Given the description of an element on the screen output the (x, y) to click on. 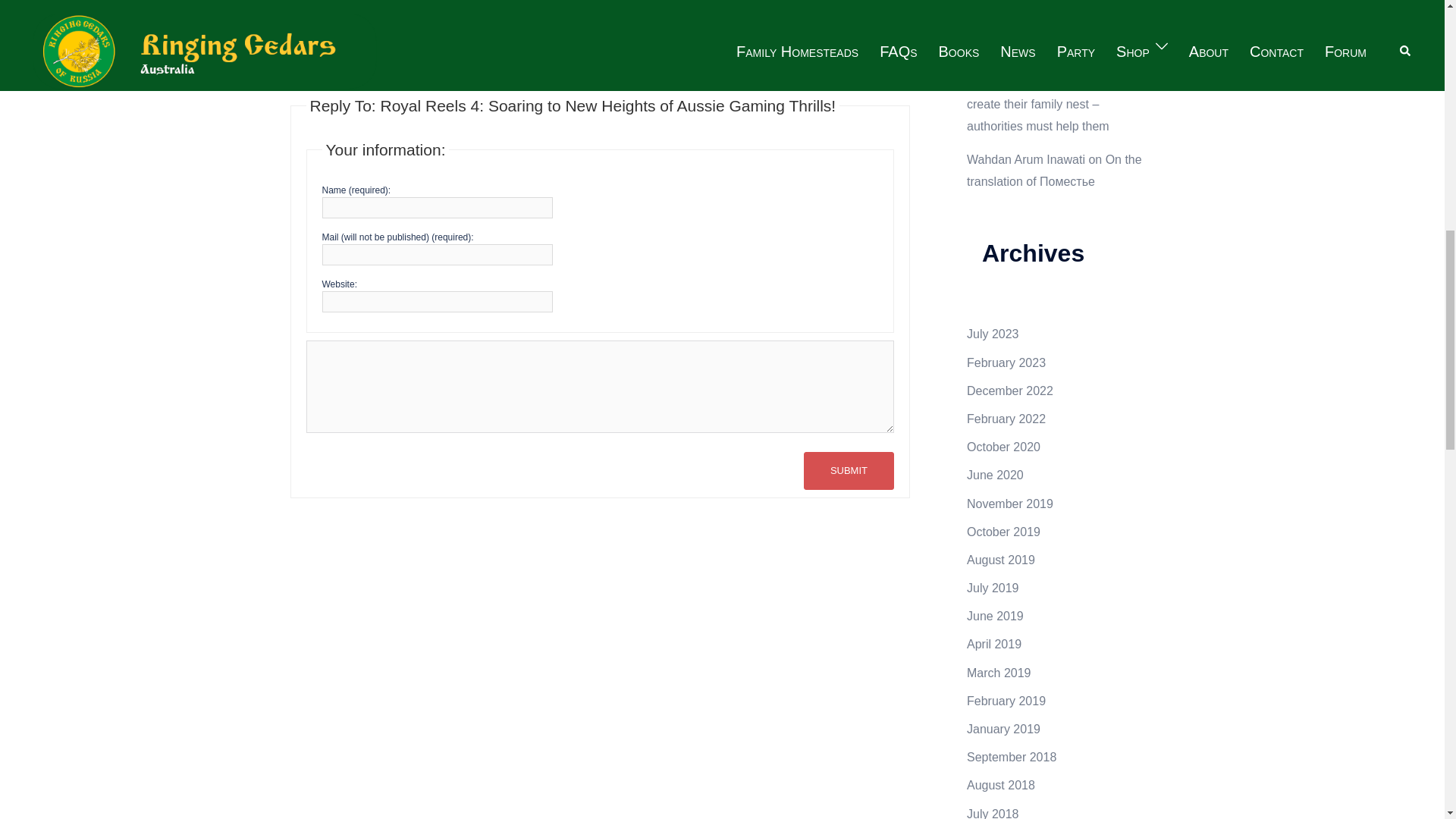
SUBMIT (848, 470)
